Given the description of an element on the screen output the (x, y) to click on. 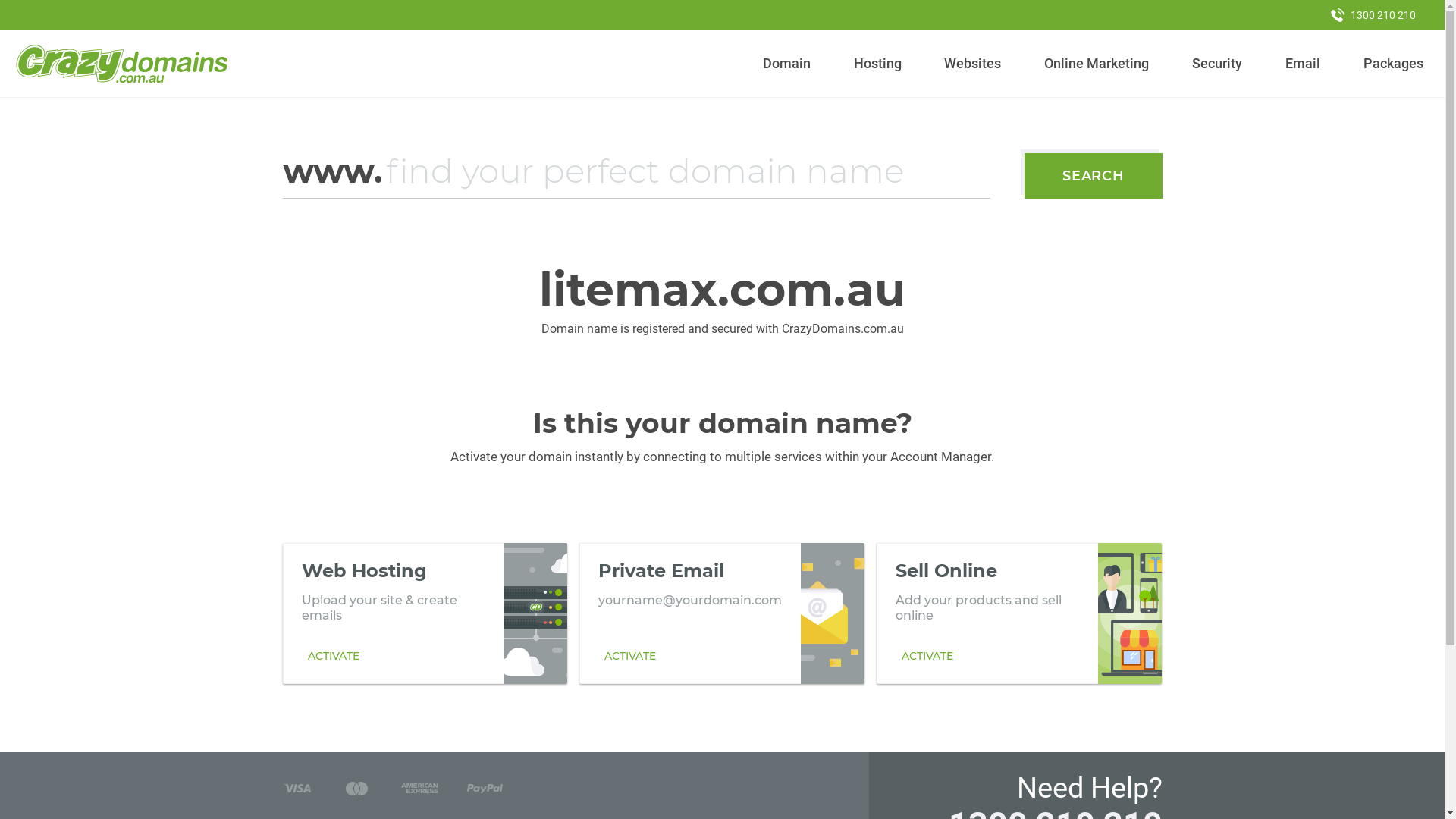
Email Element type: text (1302, 63)
1300 210 210 Element type: text (1373, 15)
Security Element type: text (1217, 63)
Private Email
yourname@yourdomain.com
ACTIVATE Element type: text (721, 613)
Domain Element type: text (786, 63)
Hosting Element type: text (877, 63)
Packages Element type: text (1392, 63)
Websites Element type: text (972, 63)
Sell Online
Add your products and sell online
ACTIVATE Element type: text (1018, 613)
SEARCH Element type: text (1092, 175)
Online Marketing Element type: text (1096, 63)
Web Hosting
Upload your site & create emails
ACTIVATE Element type: text (424, 613)
